Given the description of an element on the screen output the (x, y) to click on. 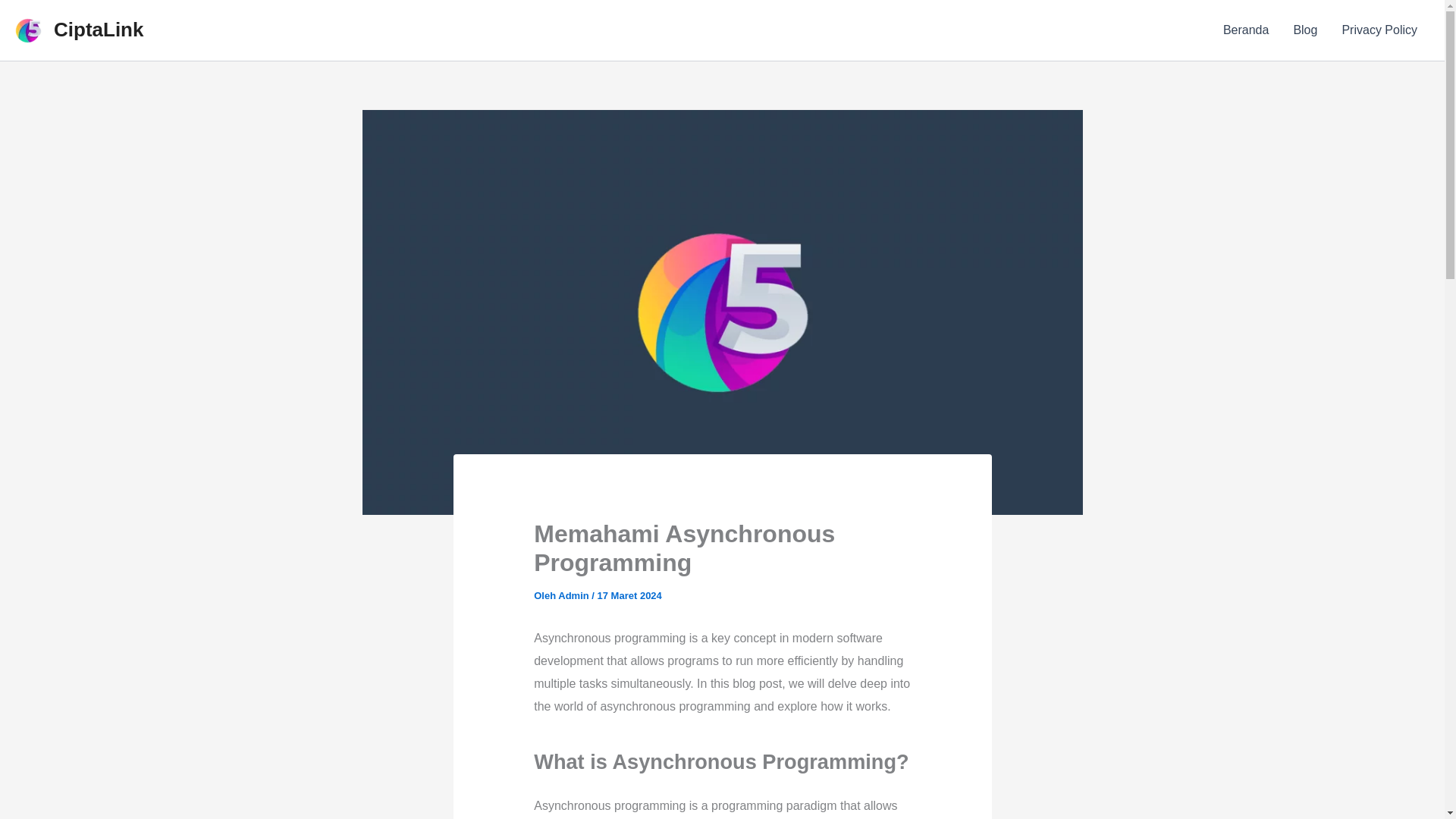
CiptaLink (97, 29)
Privacy Policy (1379, 30)
Beranda (1246, 30)
Admin (574, 595)
Lihat seluruh tulisan oleh Admin (574, 595)
